Given the description of an element on the screen output the (x, y) to click on. 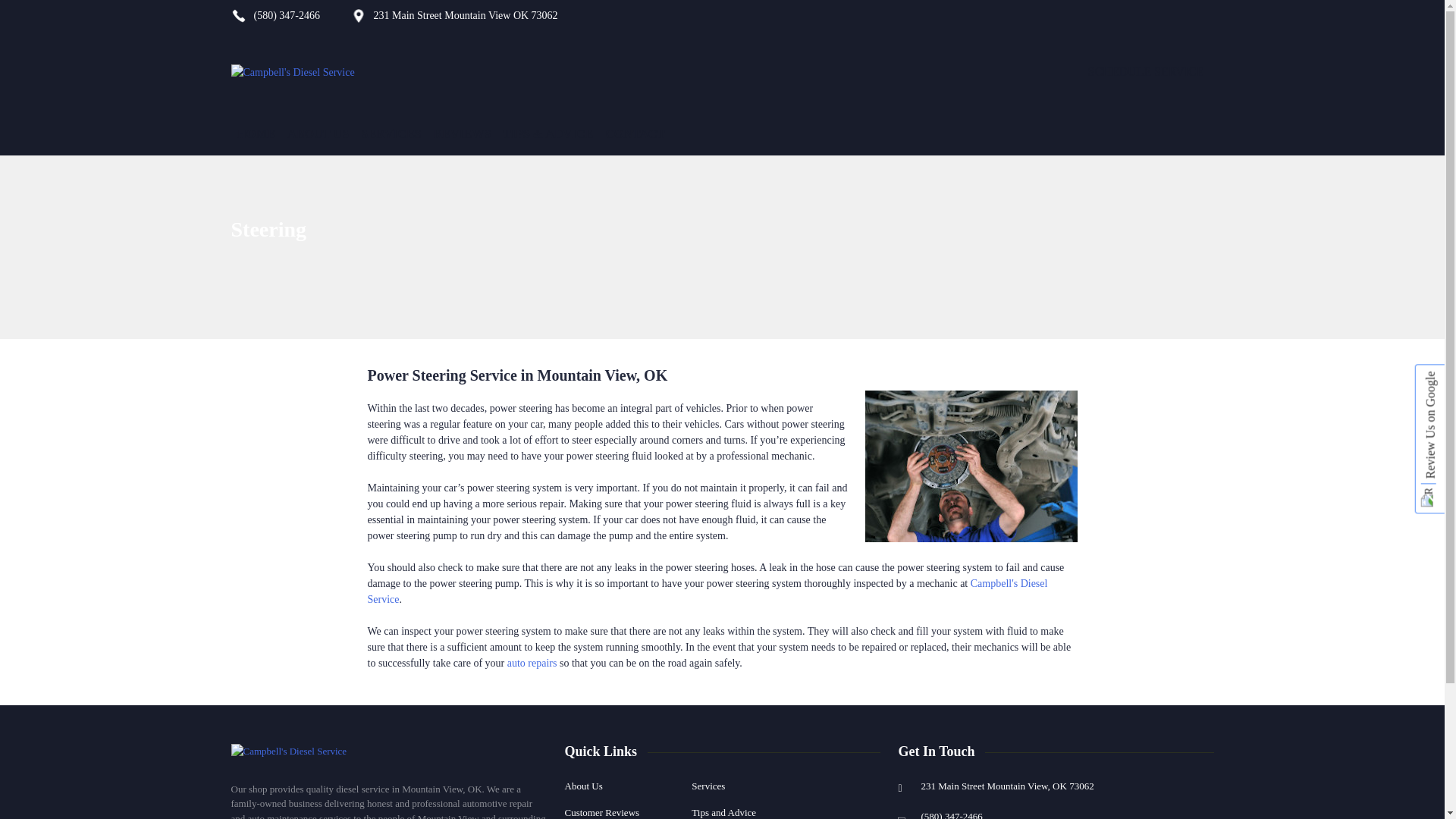
ABOUT US (318, 134)
SERVICES (390, 134)
Campbell's Diesel Service (288, 749)
Book Appointment (1146, 72)
SCHEDULE SERVICE (1146, 72)
Campbell's Diesel Service (307, 71)
231 Main Street Mountain View OK 73062 (464, 15)
HOME (255, 134)
